Given the description of an element on the screen output the (x, y) to click on. 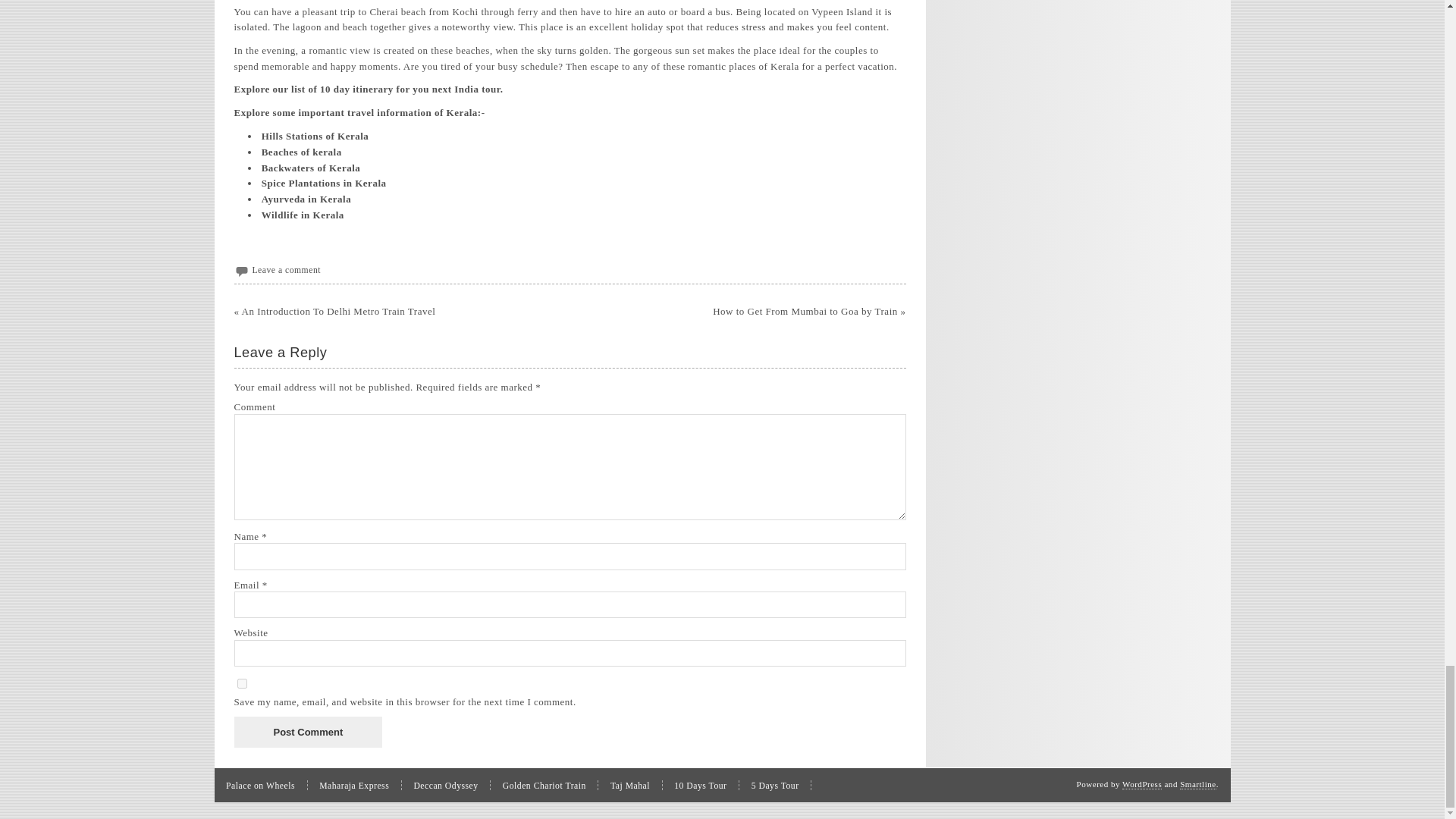
WordPress (1141, 784)
Smartline WordPress Theme (1197, 784)
10 day itinerary (356, 89)
Post Comment (306, 731)
Hills Stations of Kerala (315, 135)
excellent holiday spot (636, 26)
yes (240, 683)
romantic places of Kerala for a perfect vacation (790, 66)
